Given the description of an element on the screen output the (x, y) to click on. 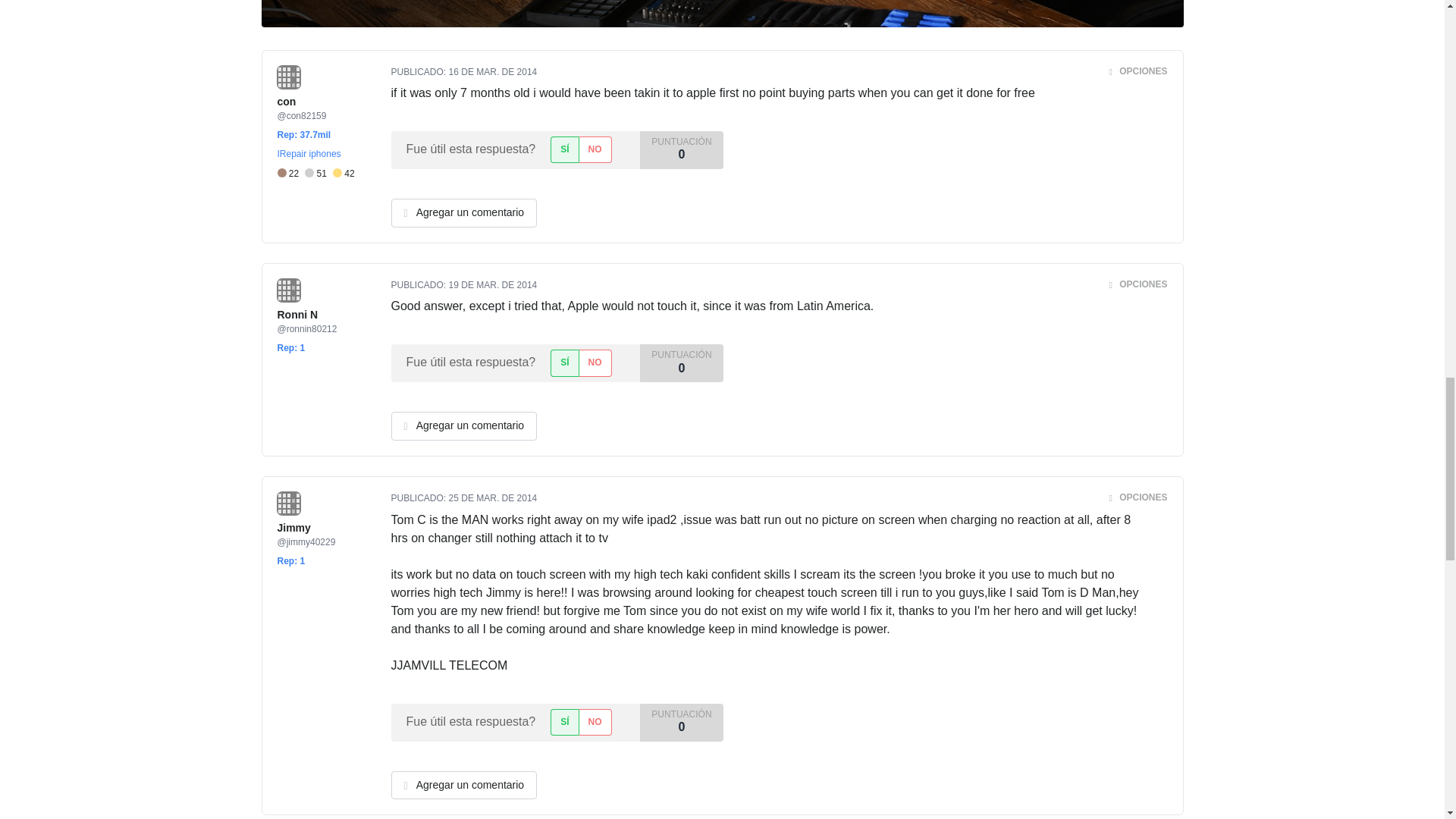
51 insignias de Plata (318, 173)
Tue, 25 Mar 2014 03:29:56 -0700 (492, 498)
Sun, 16 Mar 2014 12:49:32 -0700 (492, 71)
42 insignias de Oro (344, 173)
Wed, 19 Mar 2014 06:34:03 -0700 (492, 285)
22 insignias de Bronce (291, 173)
